Given the description of an element on the screen output the (x, y) to click on. 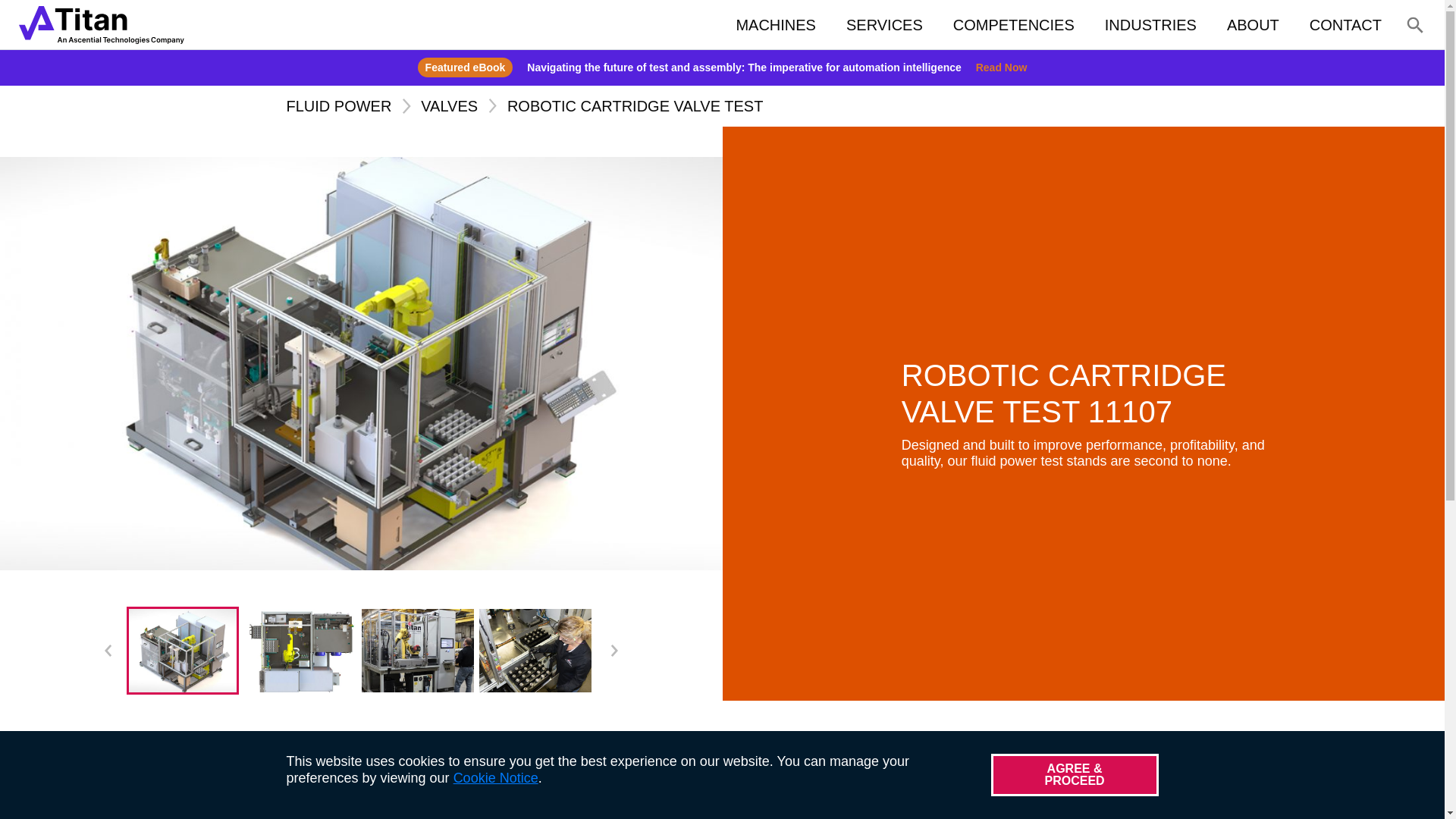
Cookie Notice (495, 777)
COMPETENCIES (1013, 24)
MACHINES (775, 24)
ROBOTIC CARTRIDGE VALVE TEST (634, 105)
SERVICES (884, 24)
INDUSTRIES (1150, 24)
VALVES (448, 105)
CONTACT (1345, 24)
FLUID POWER (338, 105)
ABOUT (1252, 24)
Search (1364, 80)
Read Now (1001, 67)
